Given the description of an element on the screen output the (x, y) to click on. 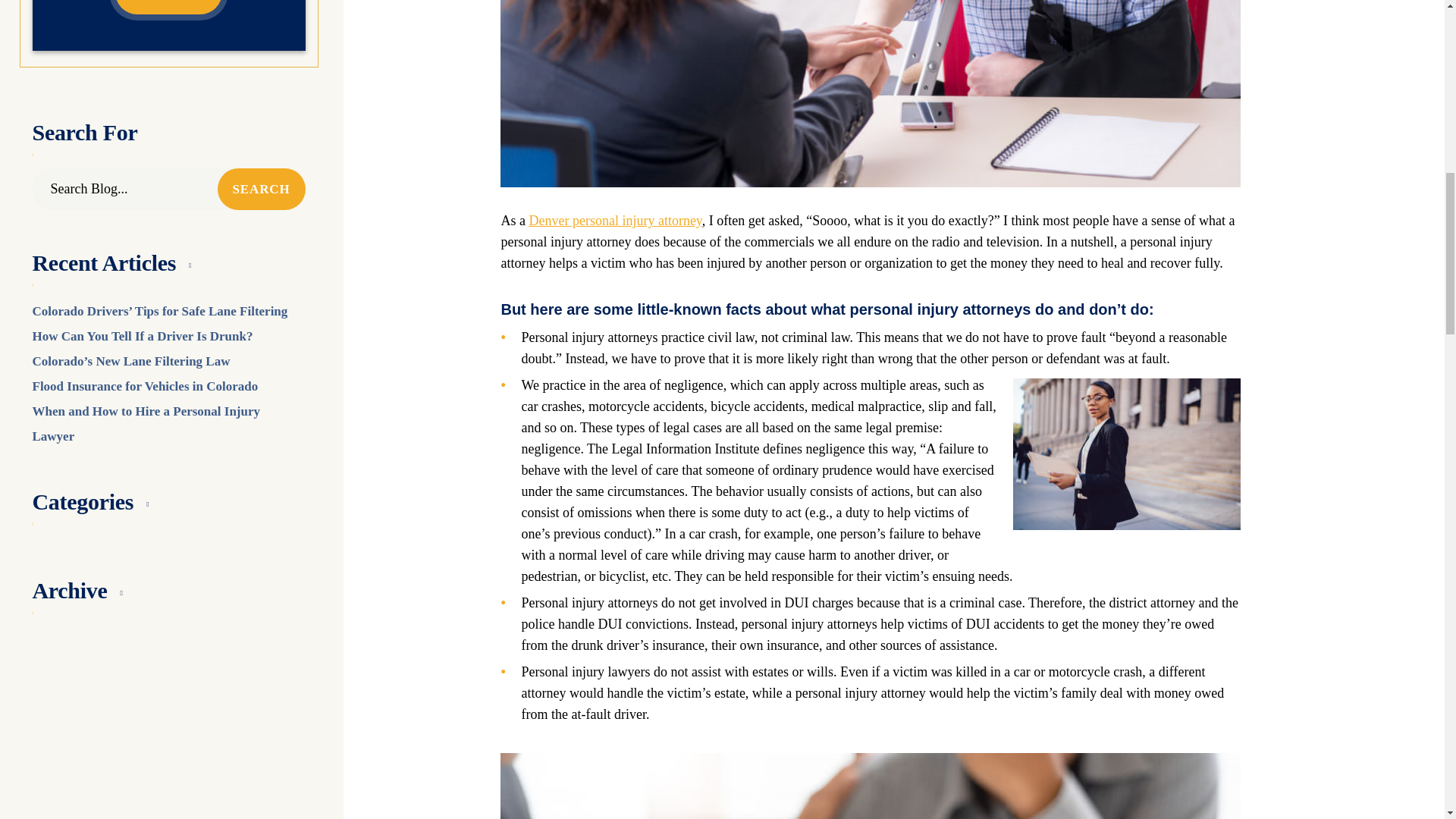
Submit (168, 7)
Denver personal injury attorney (614, 220)
Search (260, 188)
How Can You Tell If a Driver Is Drunk? (141, 336)
Search (260, 188)
Submit (168, 7)
